Given the description of an element on the screen output the (x, y) to click on. 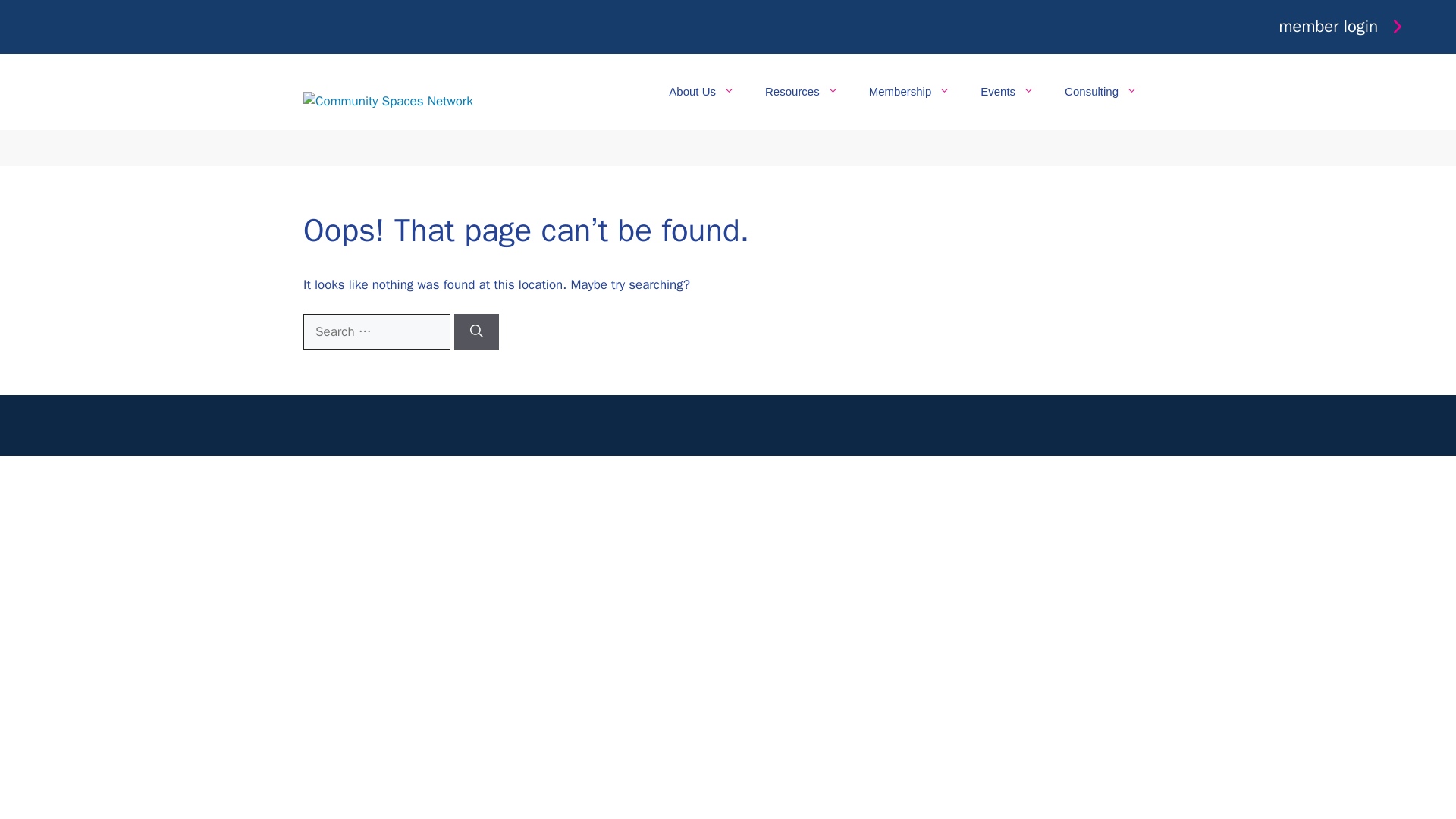
Consulting (1101, 91)
Events (1007, 91)
Resources (801, 91)
Membership (909, 91)
About Us (701, 91)
member login (1343, 26)
Search for: (375, 331)
